Given the description of an element on the screen output the (x, y) to click on. 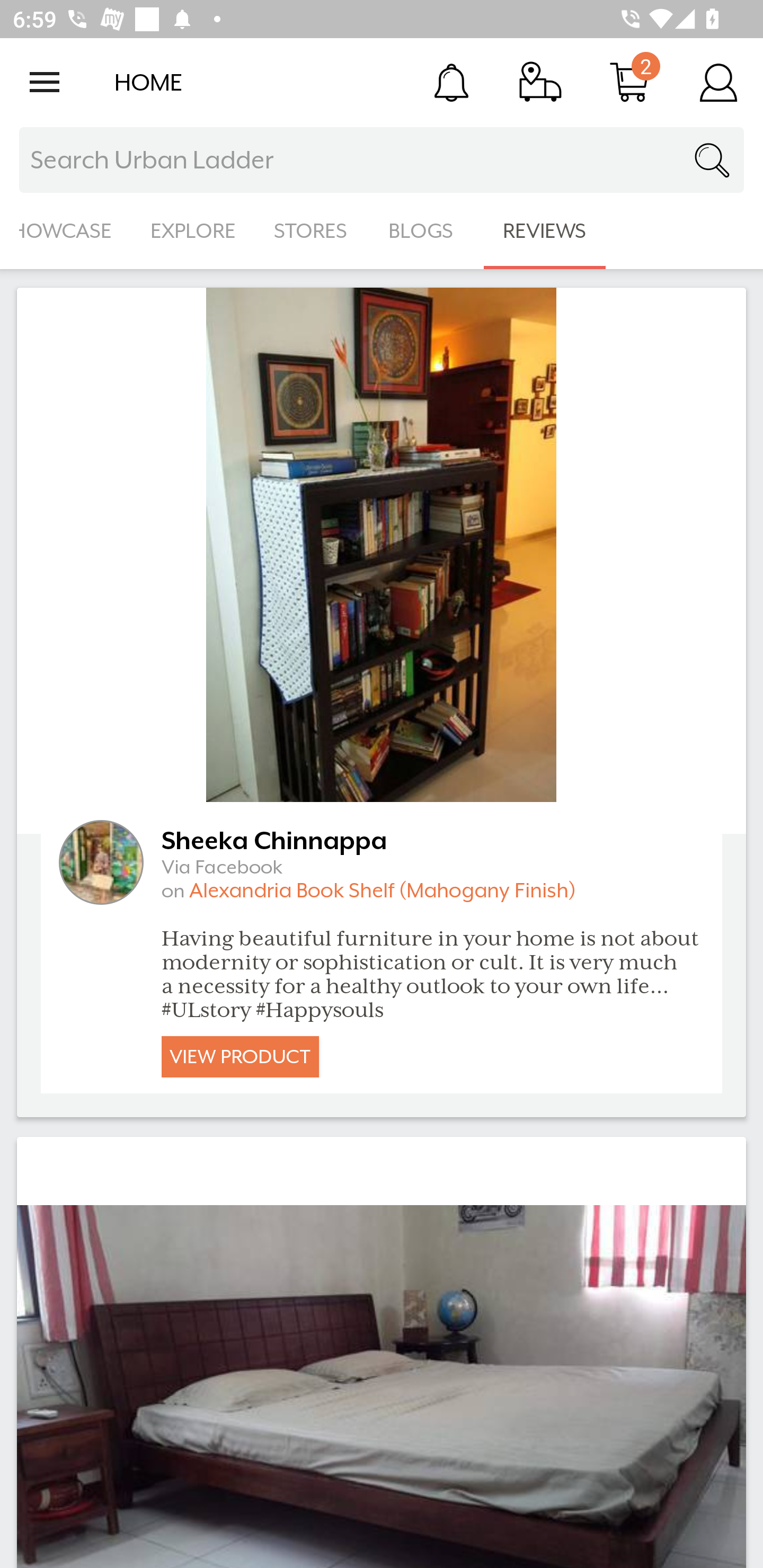
Open navigation drawer (44, 82)
Notification (450, 81)
Track Order (540, 81)
Cart (629, 81)
Account Details (718, 81)
Search Urban Ladder  (381, 159)
SHOWCASE (65, 230)
EXPLORE (192, 230)
STORES (311, 230)
BLOGS (426, 230)
REVIEWS (544, 230)
VIEW PRODUCT (239, 1056)
